Given the description of an element on the screen output the (x, y) to click on. 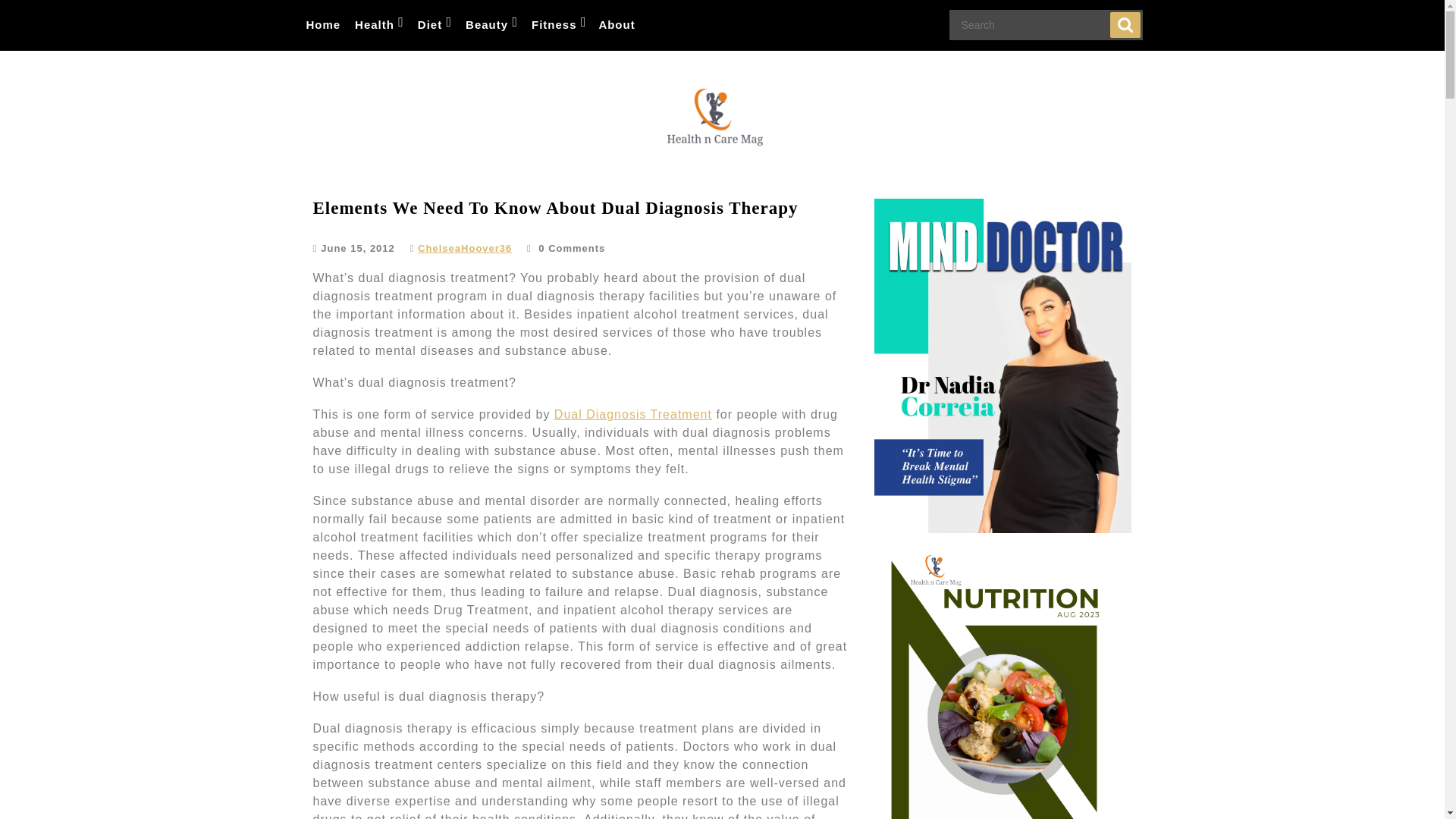
Health (378, 25)
About (616, 25)
Diet (433, 25)
Search (1124, 24)
Dual Diagnosis Treatment (632, 413)
Home (323, 25)
Our Magazine Aug Edition (1002, 685)
Fitness (558, 25)
Beauty (490, 25)
ChelseaHoover36 (464, 247)
